Given the description of an element on the screen output the (x, y) to click on. 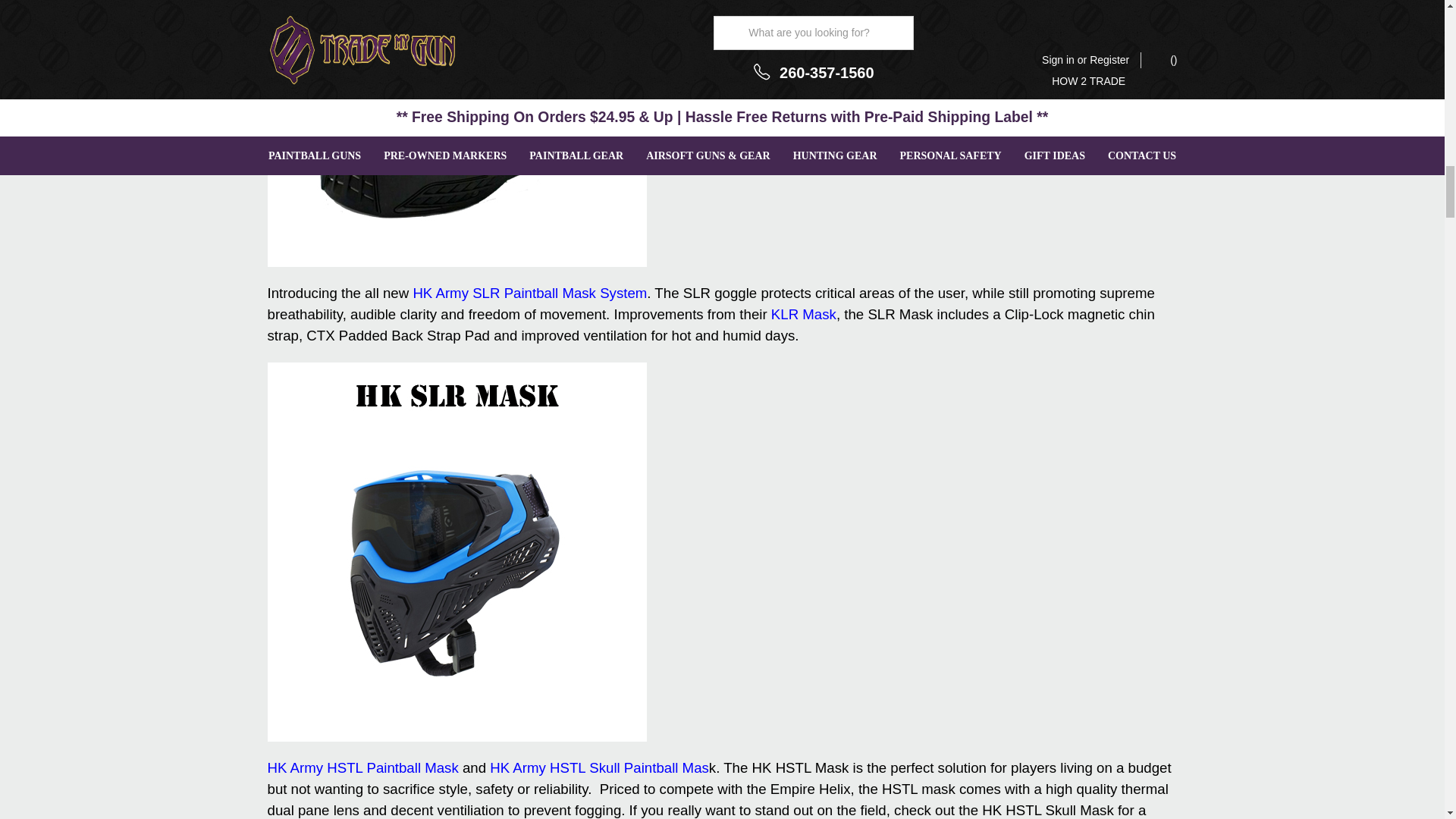
HK Army HSTL Skull Paintball Mask (599, 767)
HK Army SLR Paintball Masks (529, 293)
HK KLR Paintball Mask (803, 314)
HK Army HSTL Paintball Mask (362, 767)
